Given the description of an element on the screen output the (x, y) to click on. 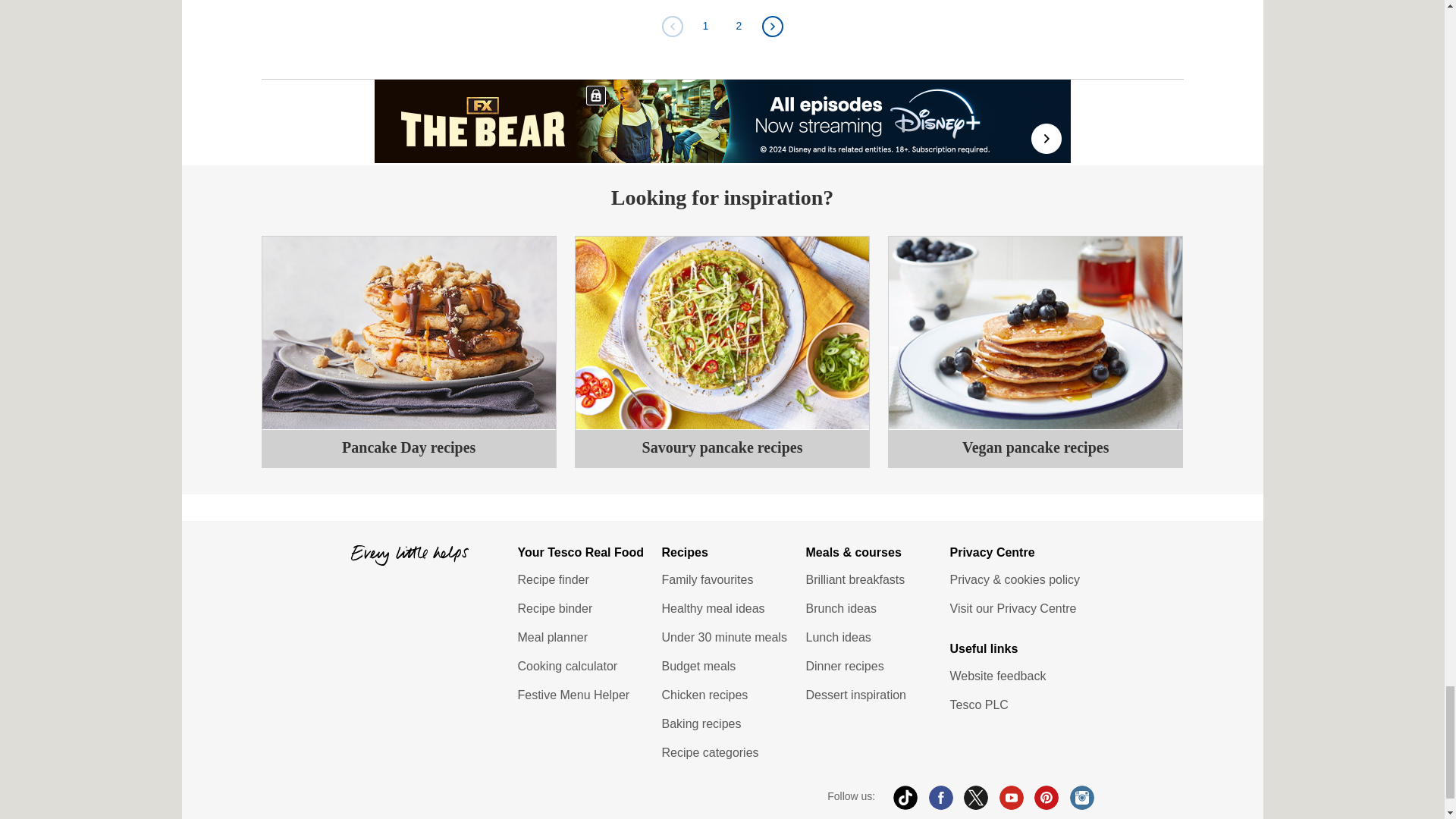
3rd party ad content (722, 120)
